Given the description of an element on the screen output the (x, y) to click on. 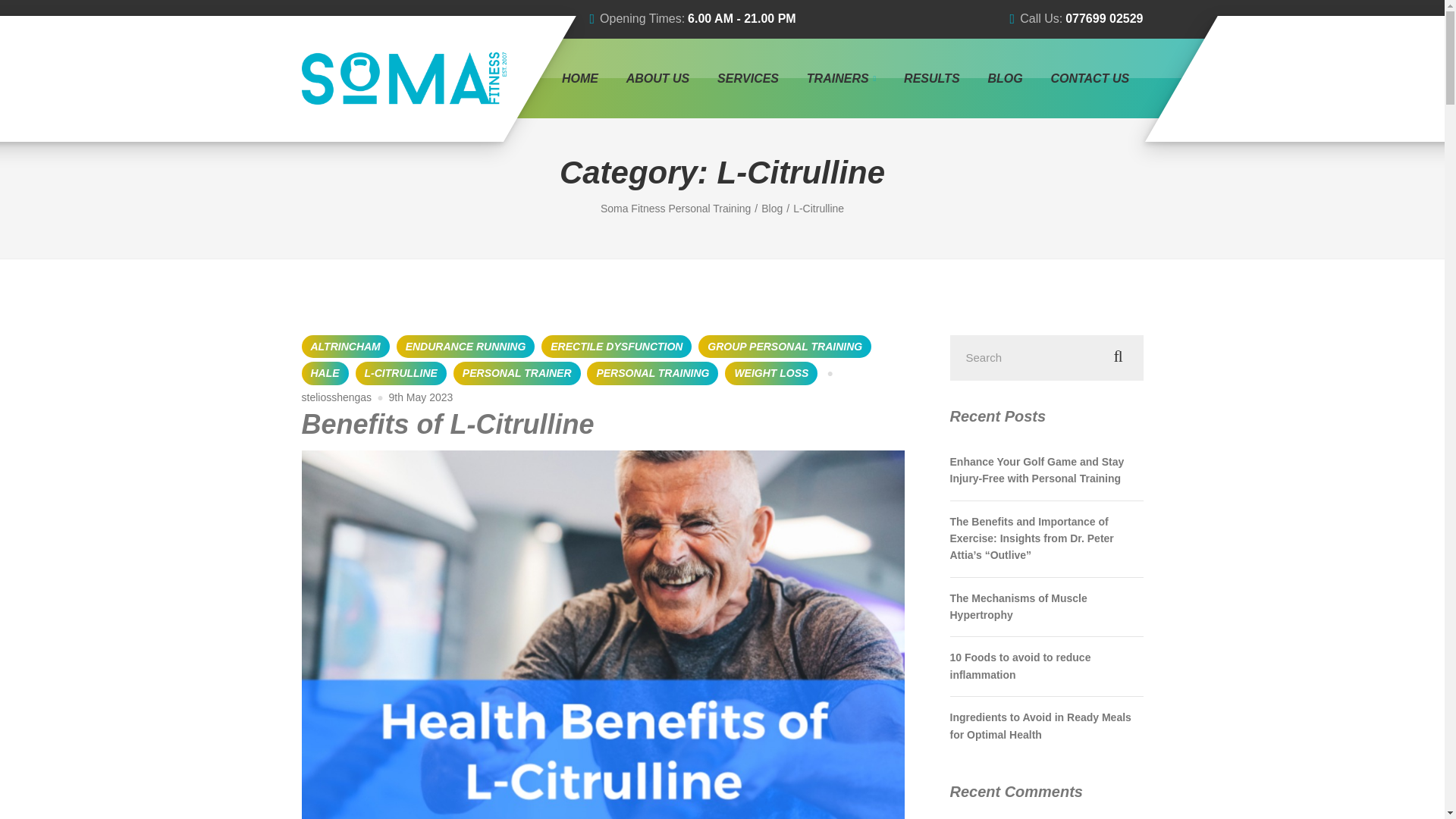
PERSONAL TRAINING (651, 372)
ALTRINCHAM (345, 345)
L-CITRULLINE (400, 372)
9th May 2023 (420, 397)
ABOUT US (657, 78)
Blog (777, 208)
GROUP PERSONAL TRAINING (784, 345)
ERECTILE DYSFUNCTION (616, 345)
HALE (325, 372)
PERSONAL TRAINER (516, 372)
10 Foods to avoid to reduce inflammation (1045, 666)
Go to the L-Citrulline Category archives. (818, 208)
Go to Blog. (777, 208)
WEIGHT LOSS (770, 372)
TRAINERS (840, 78)
